Given the description of an element on the screen output the (x, y) to click on. 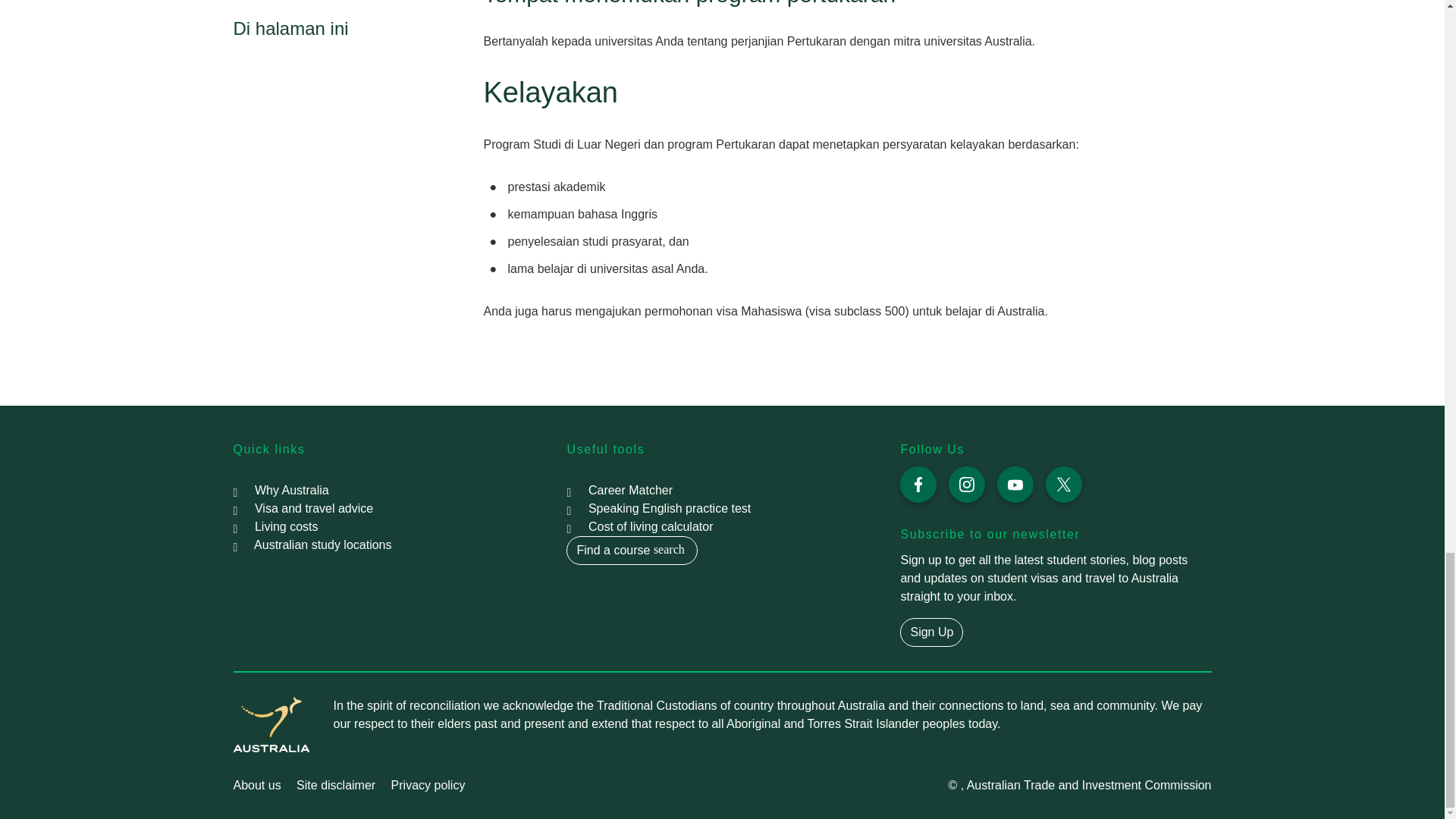
Instagram (967, 484)
Facebook (917, 484)
Facebook (918, 484)
YouTube (1015, 484)
Twitter (1063, 484)
